Given the description of an element on the screen output the (x, y) to click on. 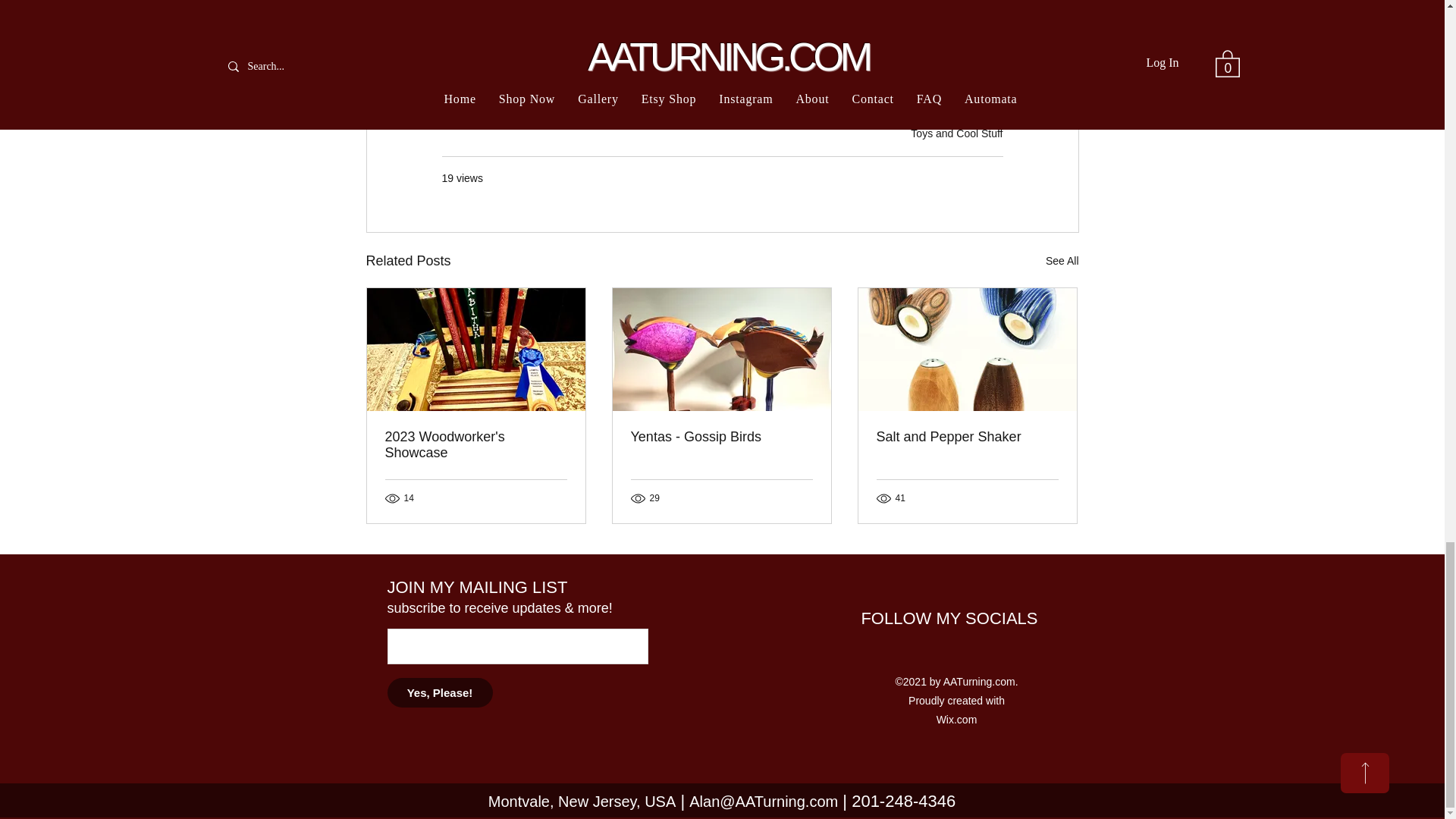
Woodturning (481, 17)
Wood Art (793, 17)
Home Decor (567, 17)
Alan Adler (646, 17)
Woodworking (873, 17)
AATurning (721, 17)
